Given the description of an element on the screen output the (x, y) to click on. 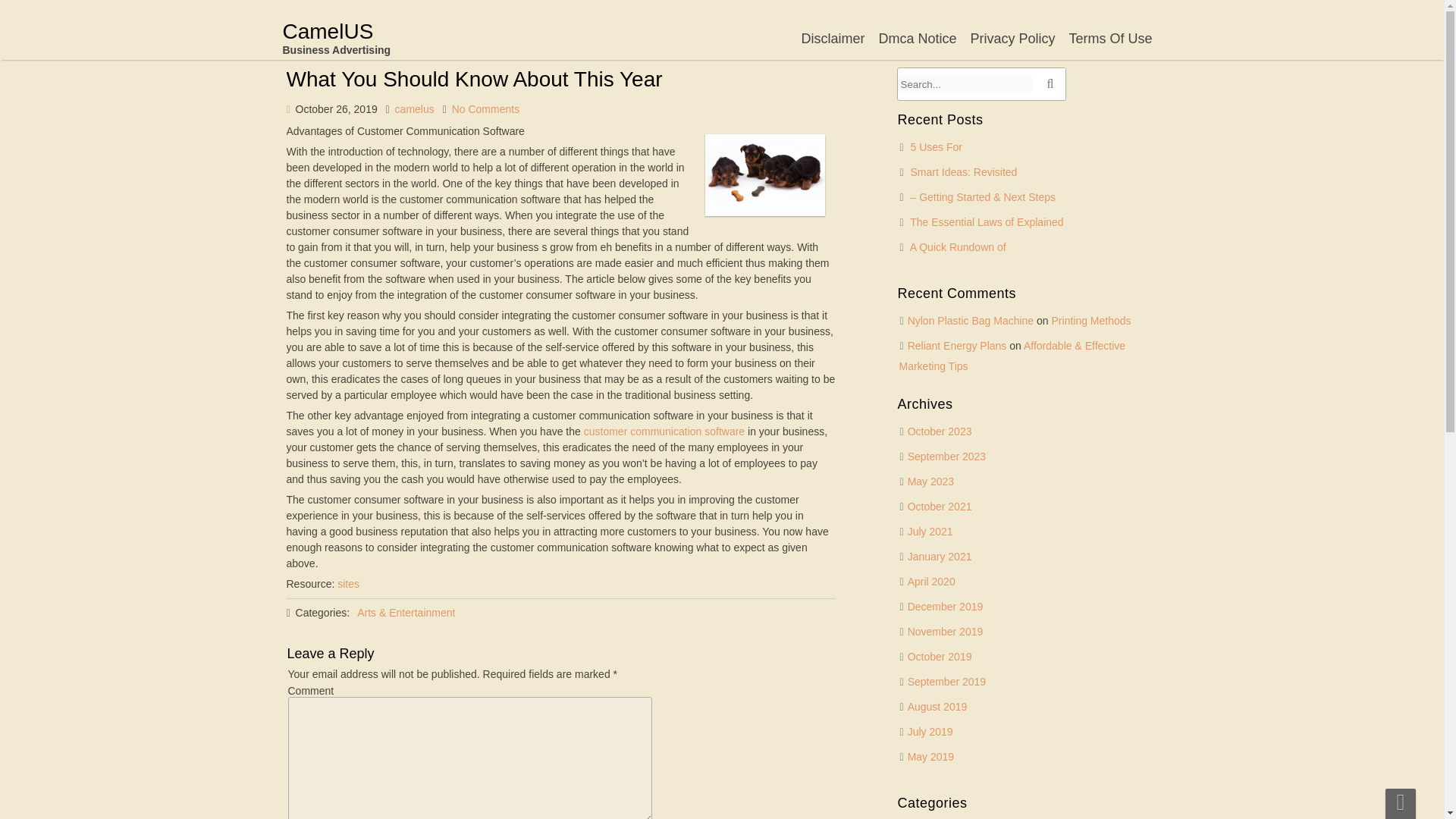
September 2019 (947, 681)
October 2023 (939, 431)
Reliant Energy Plans (957, 345)
July 2021 (930, 531)
December 2019 (945, 606)
5 Uses For (936, 146)
Privacy Policy (1012, 38)
January 2021 (939, 556)
Disclaimer (831, 38)
May 2019 (930, 756)
